Given the description of an element on the screen output the (x, y) to click on. 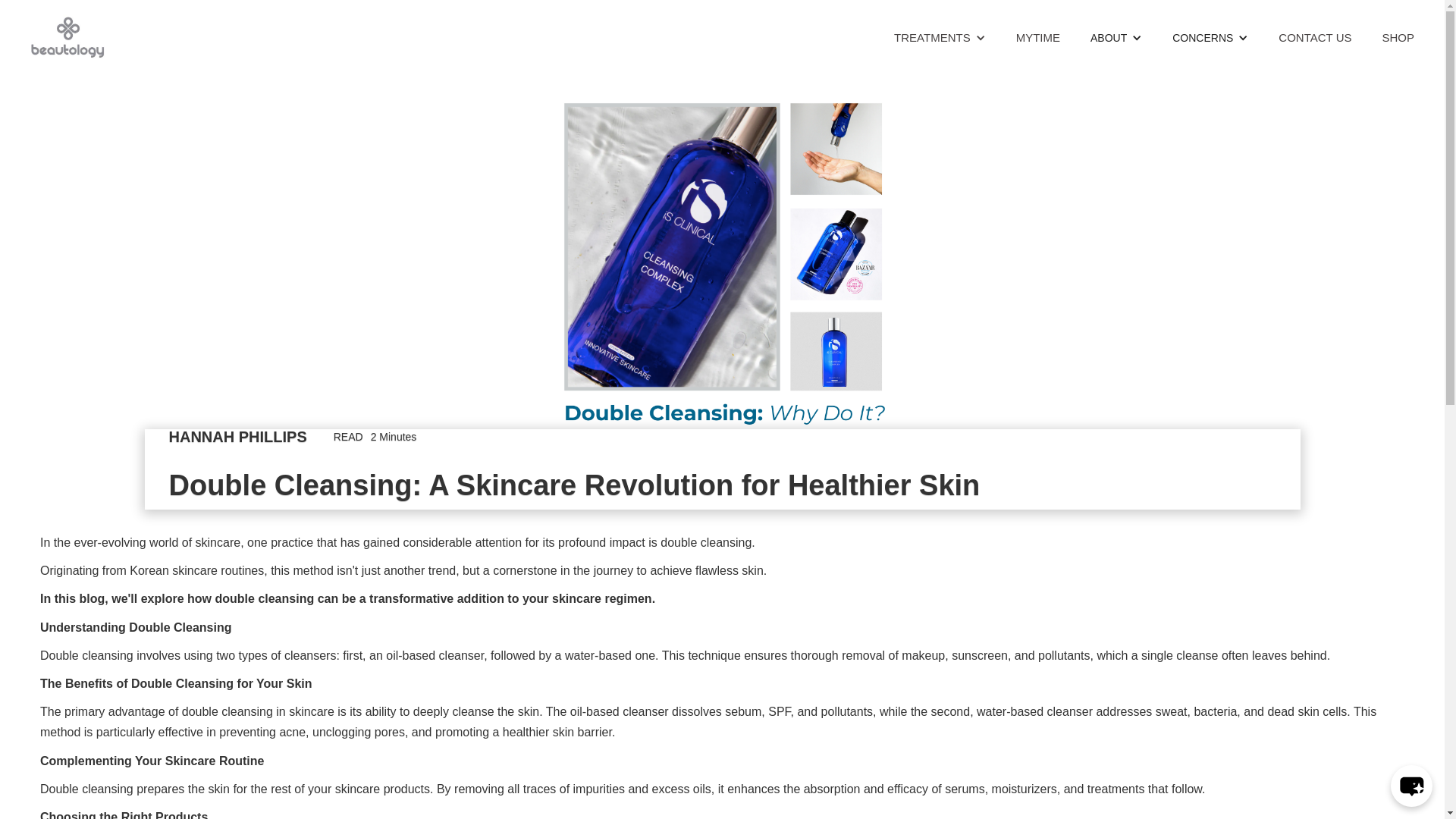
CONTACT US (1315, 37)
SHOP (1398, 37)
MYTIME (1038, 37)
